Given the description of an element on the screen output the (x, y) to click on. 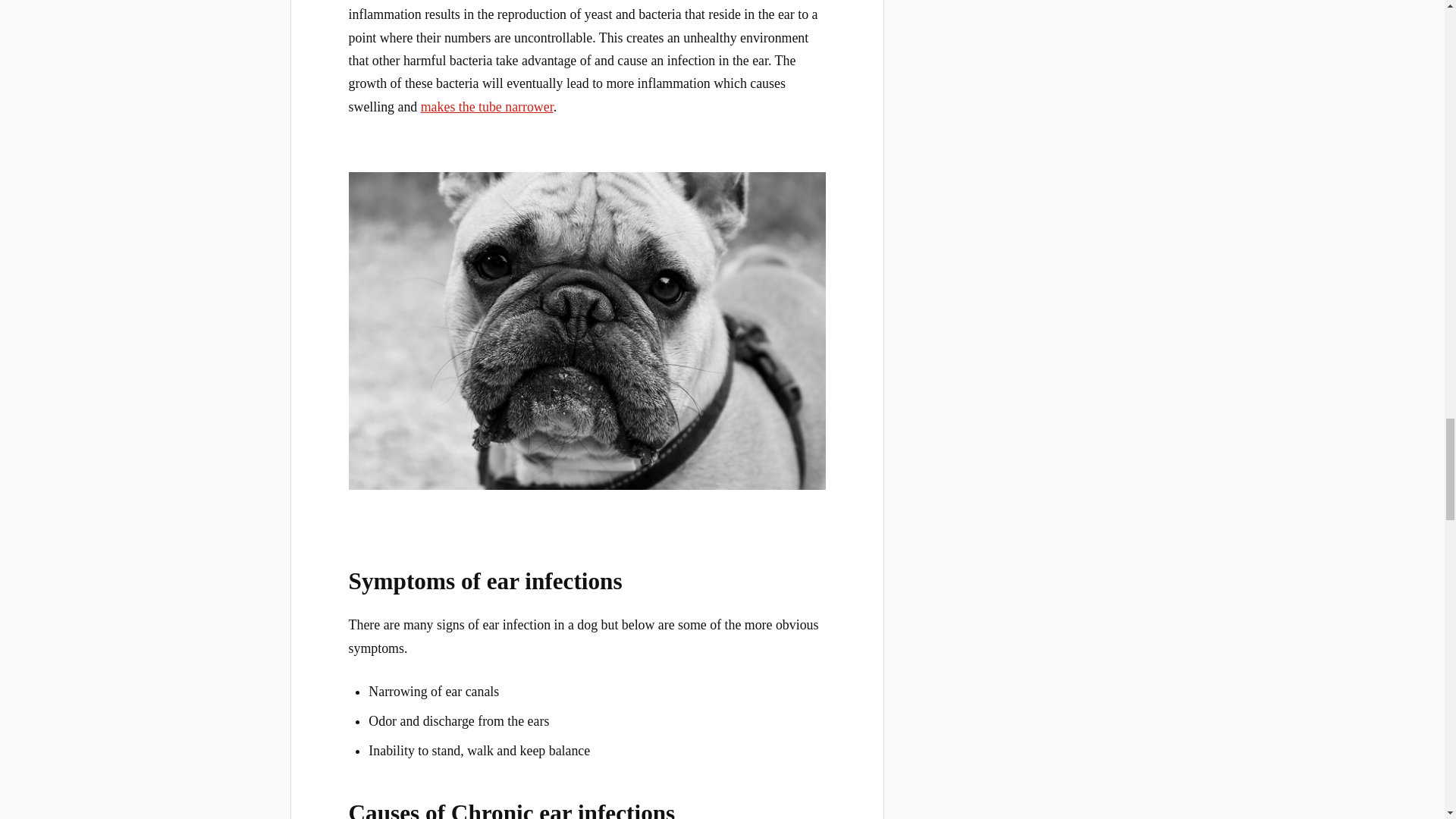
makes the tube narrower (486, 106)
